Given the description of an element on the screen output the (x, y) to click on. 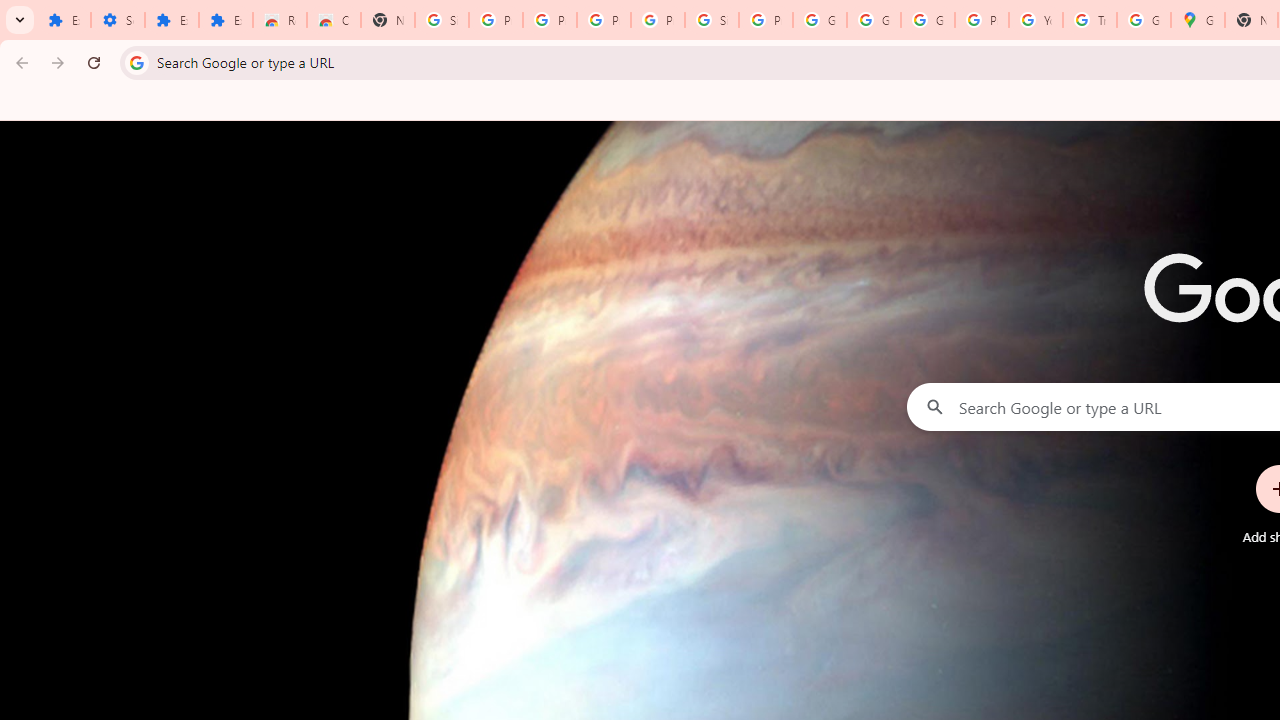
New Tab (387, 20)
Extensions (225, 20)
YouTube (1035, 20)
Sign in - Google Accounts (711, 20)
Google Maps (1197, 20)
Extensions (63, 20)
Extensions (171, 20)
